Given the description of an element on the screen output the (x, y) to click on. 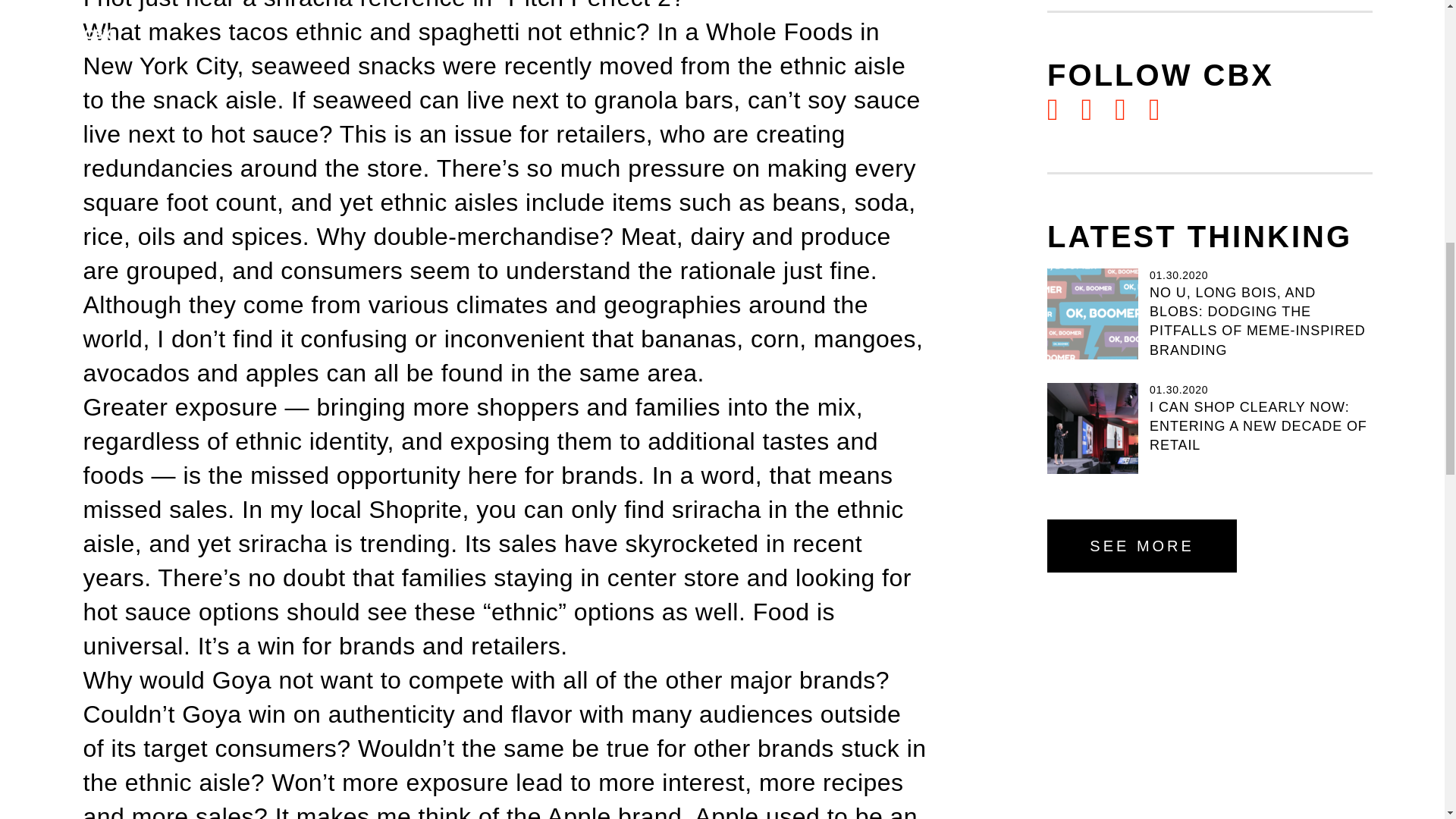
SEE MORE (1141, 545)
